Given the description of an element on the screen output the (x, y) to click on. 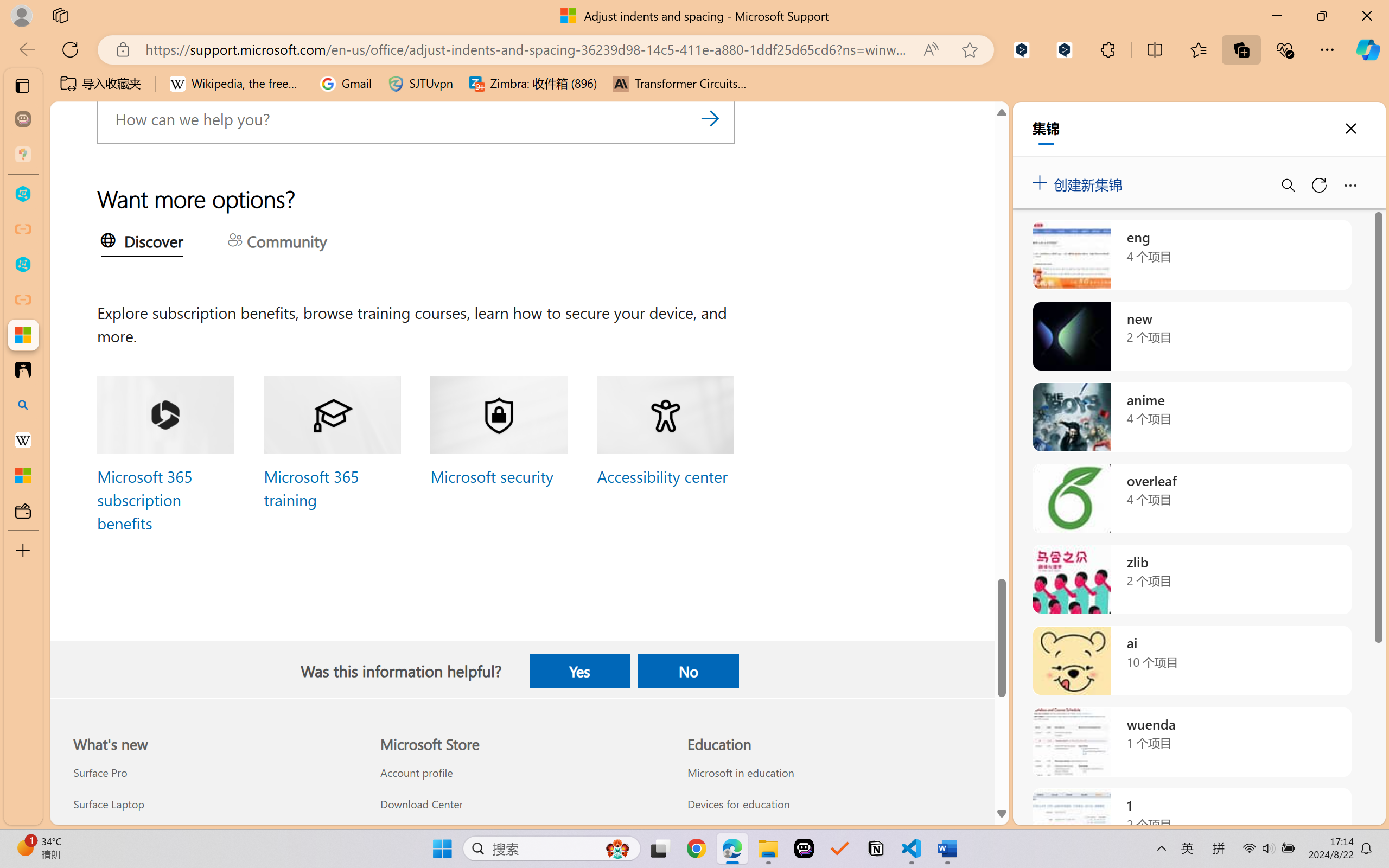
Download Center Microsoft Store (420, 803)
Microsoft Store support (521, 835)
Account profile Microsoft Store (415, 772)
Microsoft Teams for Education (828, 835)
No (687, 670)
Microsoft 365 training (310, 487)
How can we help you? (415, 118)
